Given the description of an element on the screen output the (x, y) to click on. 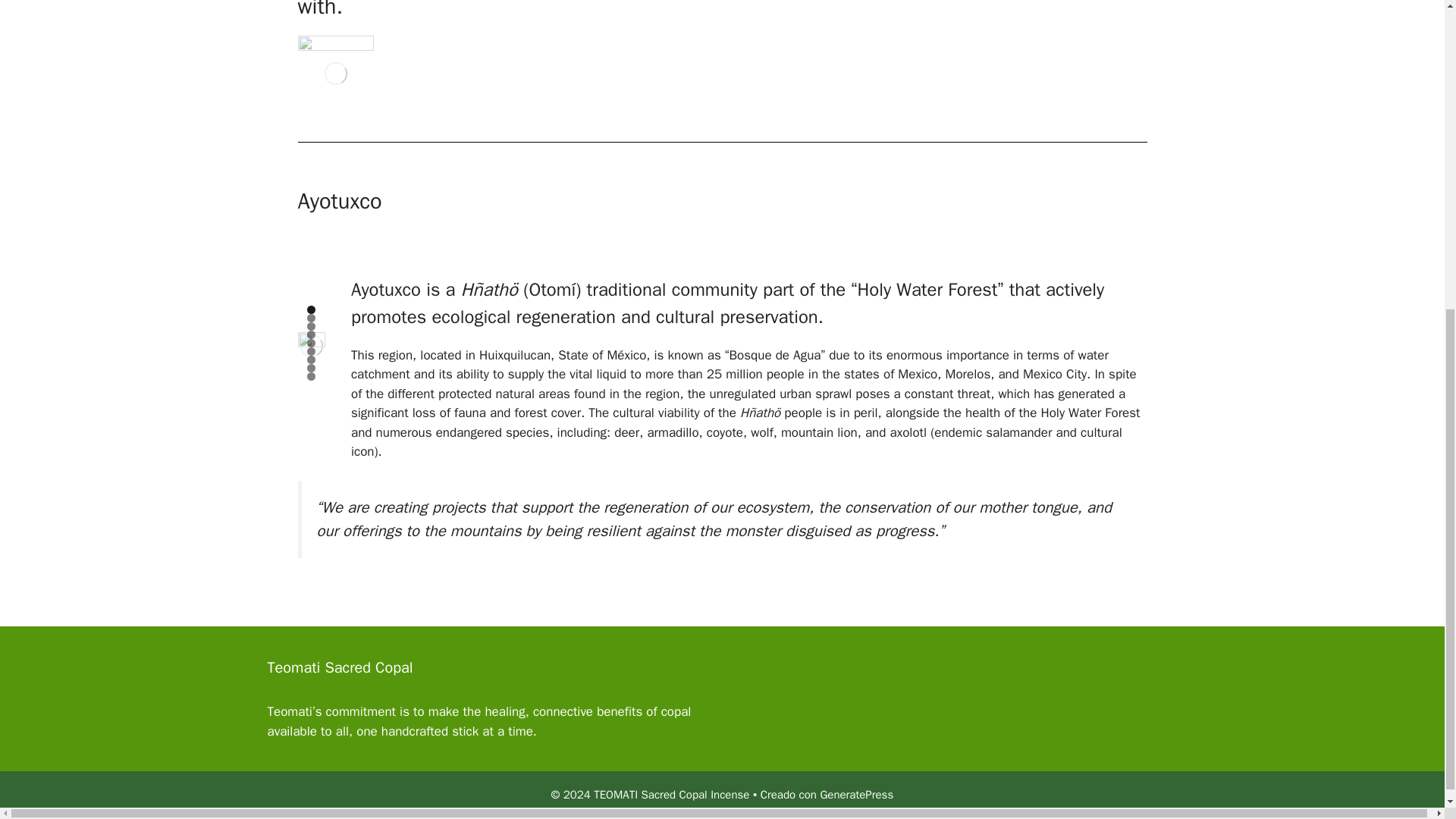
2 (311, 317)
8 (311, 367)
ed477a75-bbe1-445f-b630-be2d621c62fe (310, 345)
3 (311, 326)
4 (311, 334)
7 (311, 359)
1 (311, 309)
GeneratePress (856, 794)
9 (311, 376)
5 (311, 343)
6 (311, 351)
